Given the description of an element on the screen output the (x, y) to click on. 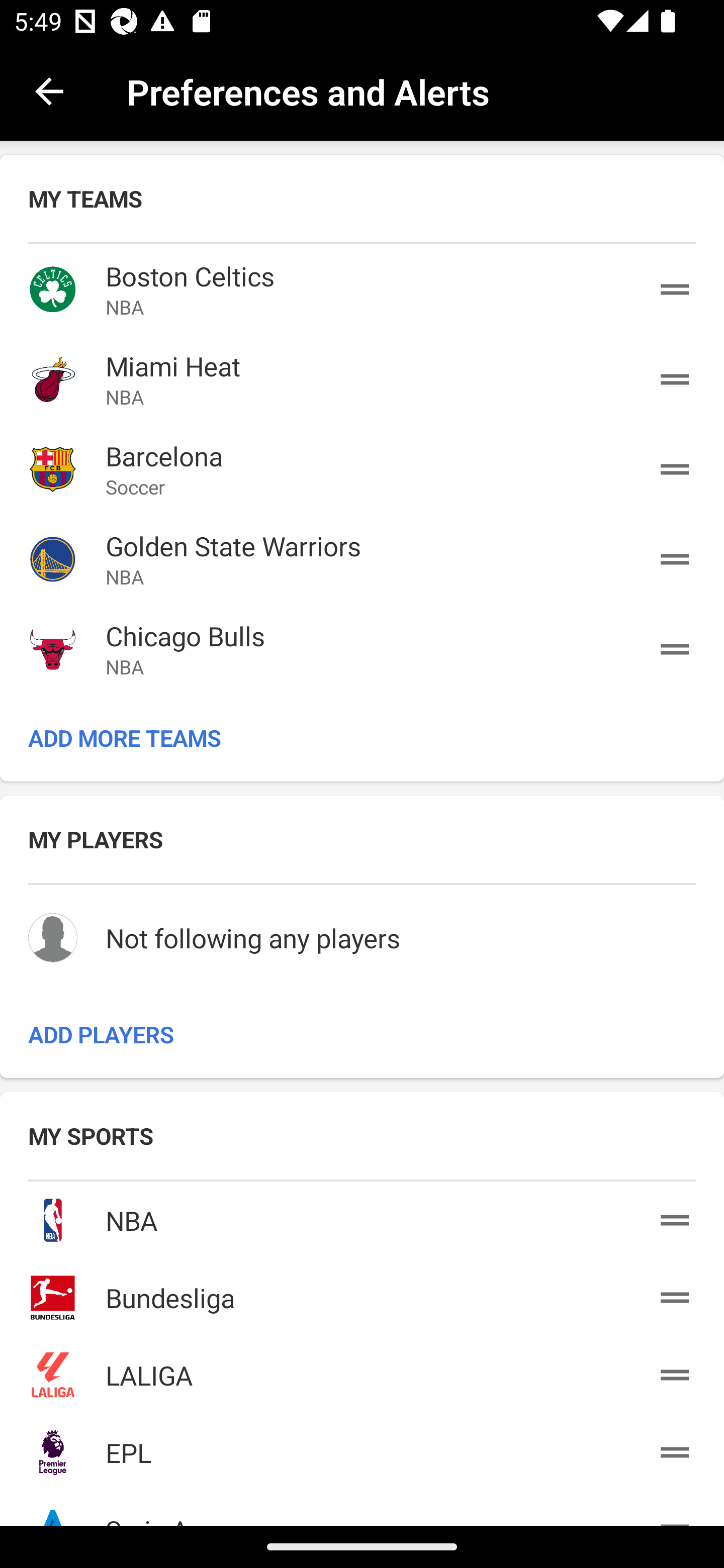
back.button (49, 90)
Miami Heat Miami Heat Miami Heat NBA NBA (362, 378)
Barcelona Barcelona Barcelona Soccer Soccer (362, 469)
Chicago Bulls Chicago Bulls Chicago Bulls NBA NBA (362, 648)
ADD MORE TEAMS (362, 737)
ADD PLAYERS (362, 1034)
NBA NBA NBA (362, 1216)
Bundesliga Bundesliga Bundesliga (362, 1293)
LALIGA LALIGA LALIGA (362, 1370)
EPL EPL EPL (362, 1448)
